Given the description of an element on the screen output the (x, y) to click on. 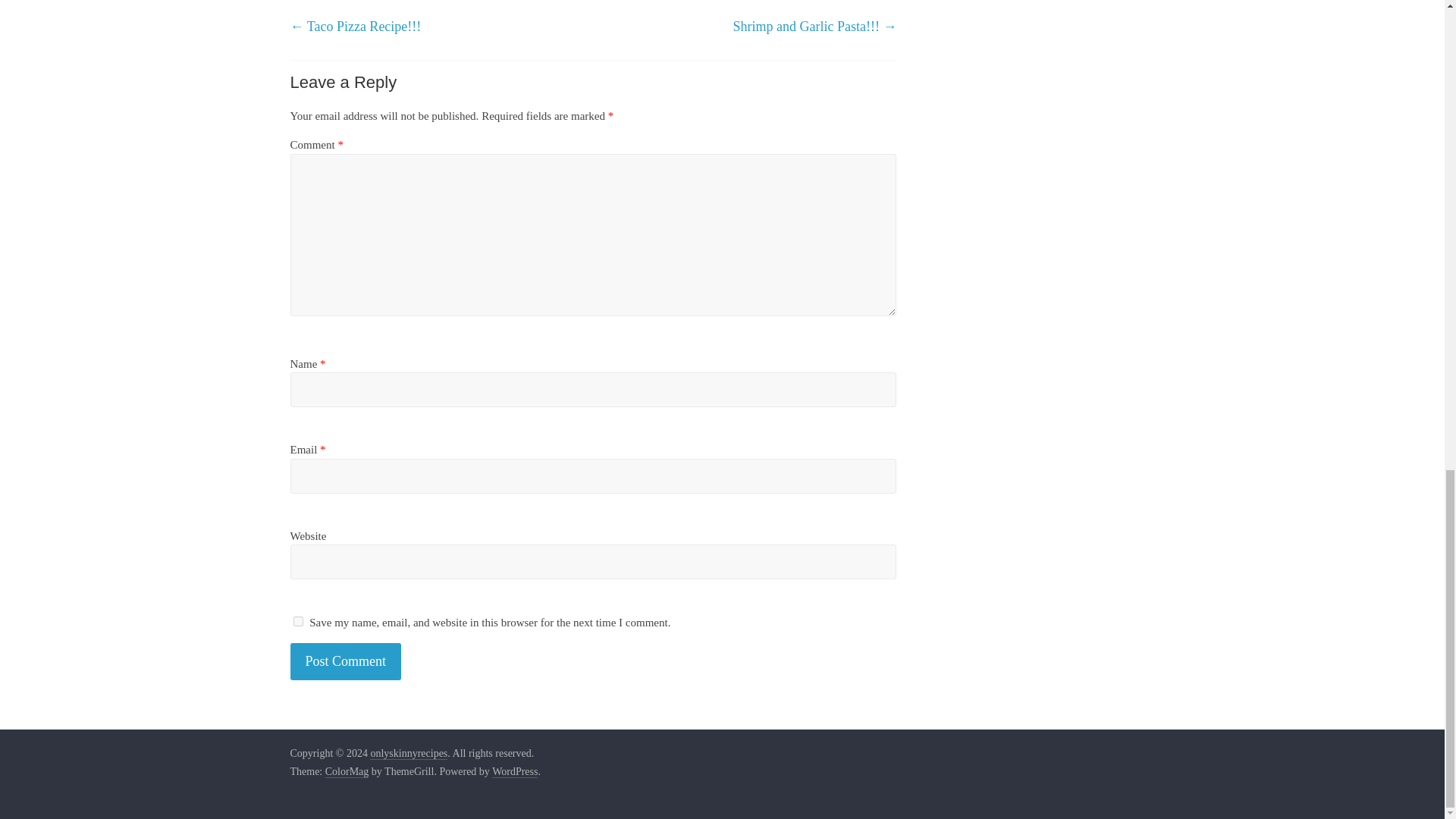
ColorMag (346, 771)
onlyskinnyrecipes (407, 753)
Post Comment (345, 661)
yes (297, 621)
WordPress (514, 771)
WordPress (514, 771)
Post Comment (345, 661)
ColorMag (346, 771)
onlyskinnyrecipes (407, 753)
